Given the description of an element on the screen output the (x, y) to click on. 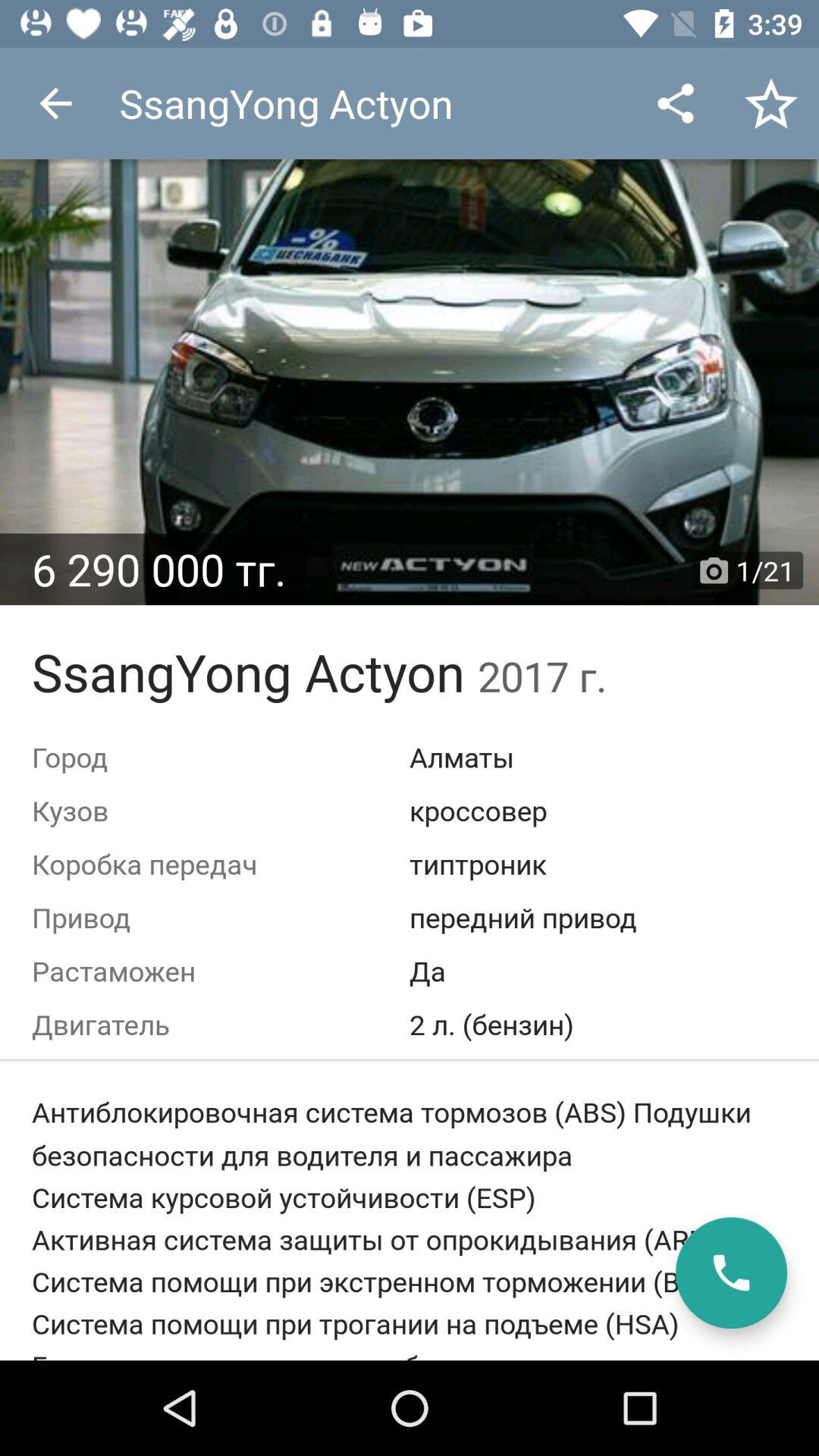
click the item at the top left corner (55, 103)
